Given the description of an element on the screen output the (x, y) to click on. 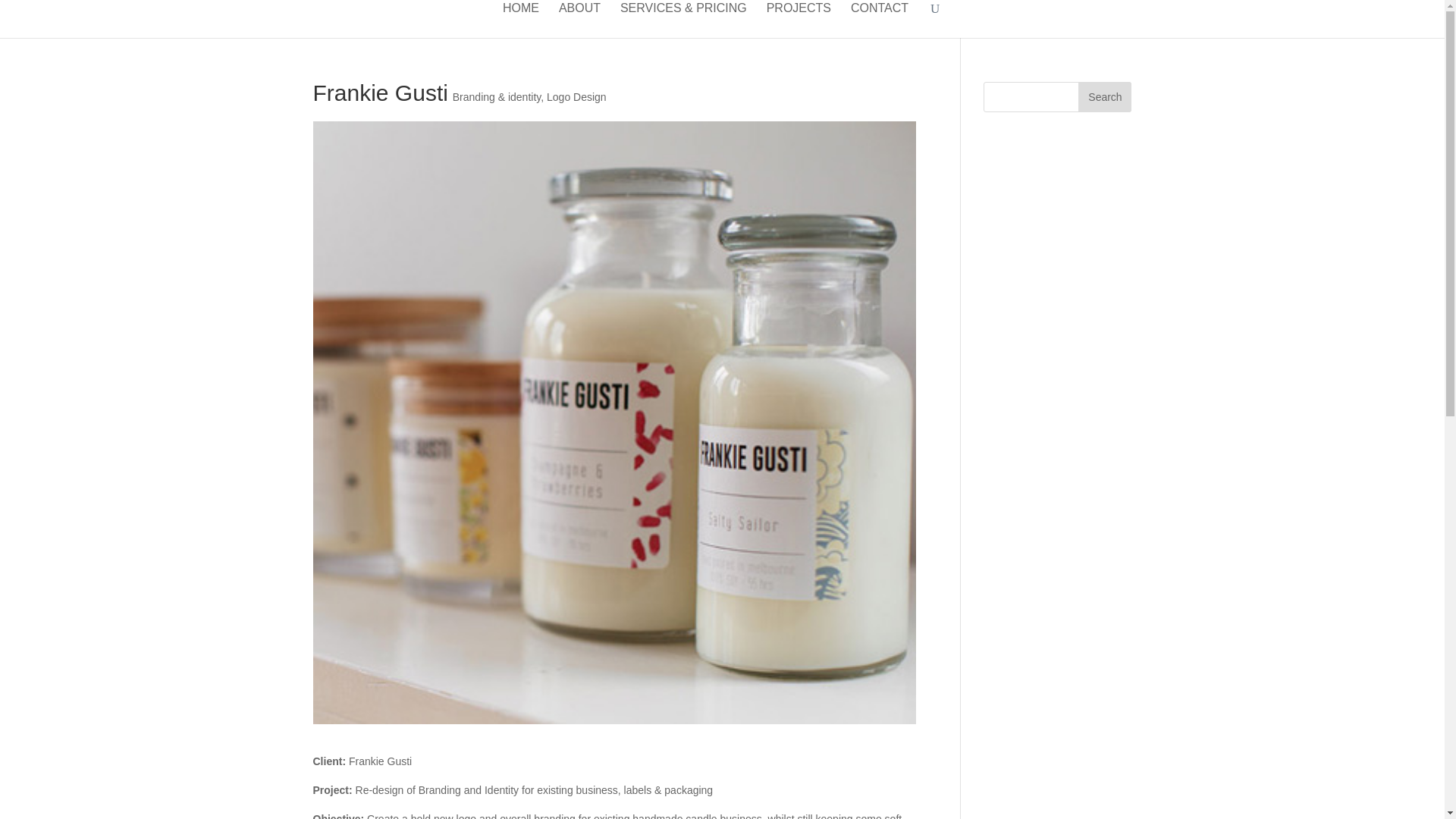
Search (1104, 96)
PROJECTS (799, 20)
Logo Design (577, 96)
Search (1104, 96)
HOME (520, 20)
CONTACT (879, 20)
ABOUT (579, 20)
